Given the description of an element on the screen output the (x, y) to click on. 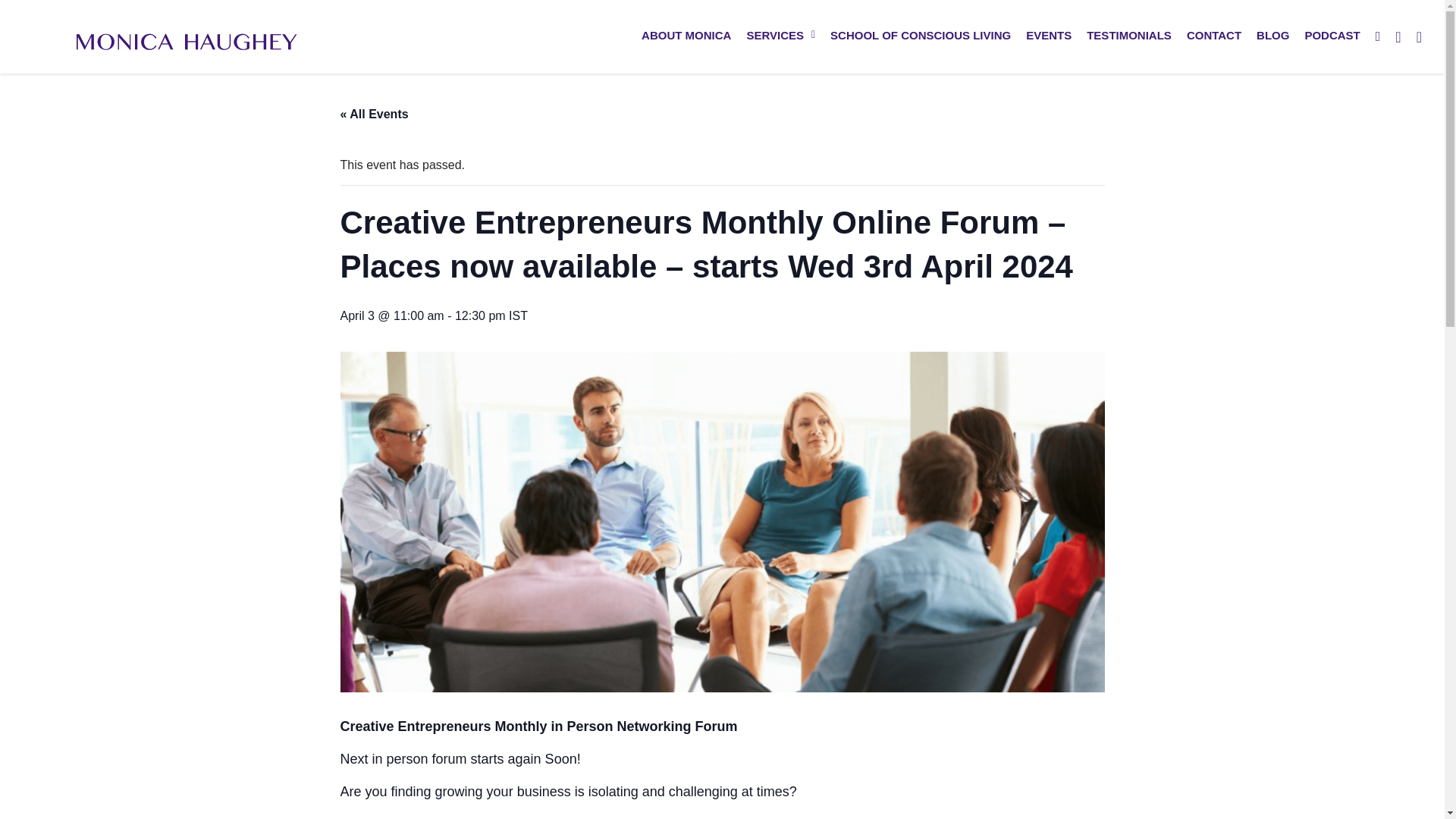
SCHOOL OF CONSCIOUS LIVING (919, 35)
CONTACT (1214, 35)
PODCAST (1332, 35)
BLOG (1273, 35)
ABOUT MONICA (685, 35)
EVENTS (1047, 35)
SERVICES (780, 35)
TESTIMONIALS (1128, 35)
Skip to content (11, 31)
